Given the description of an element on the screen output the (x, y) to click on. 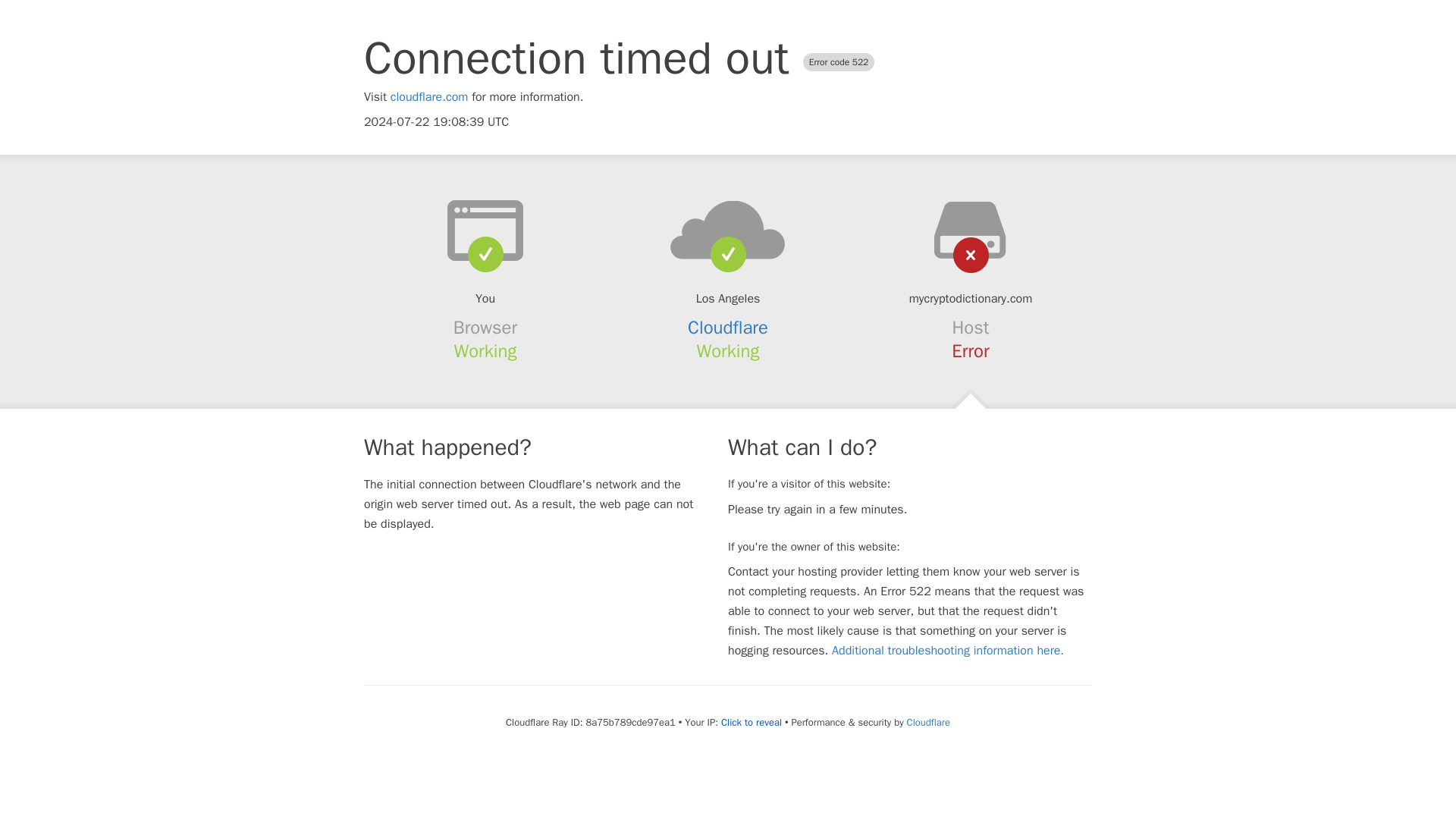
Additional troubleshooting information here. (947, 650)
Click to reveal (750, 722)
Cloudflare (727, 327)
Cloudflare (928, 721)
cloudflare.com (429, 96)
